Given the description of an element on the screen output the (x, y) to click on. 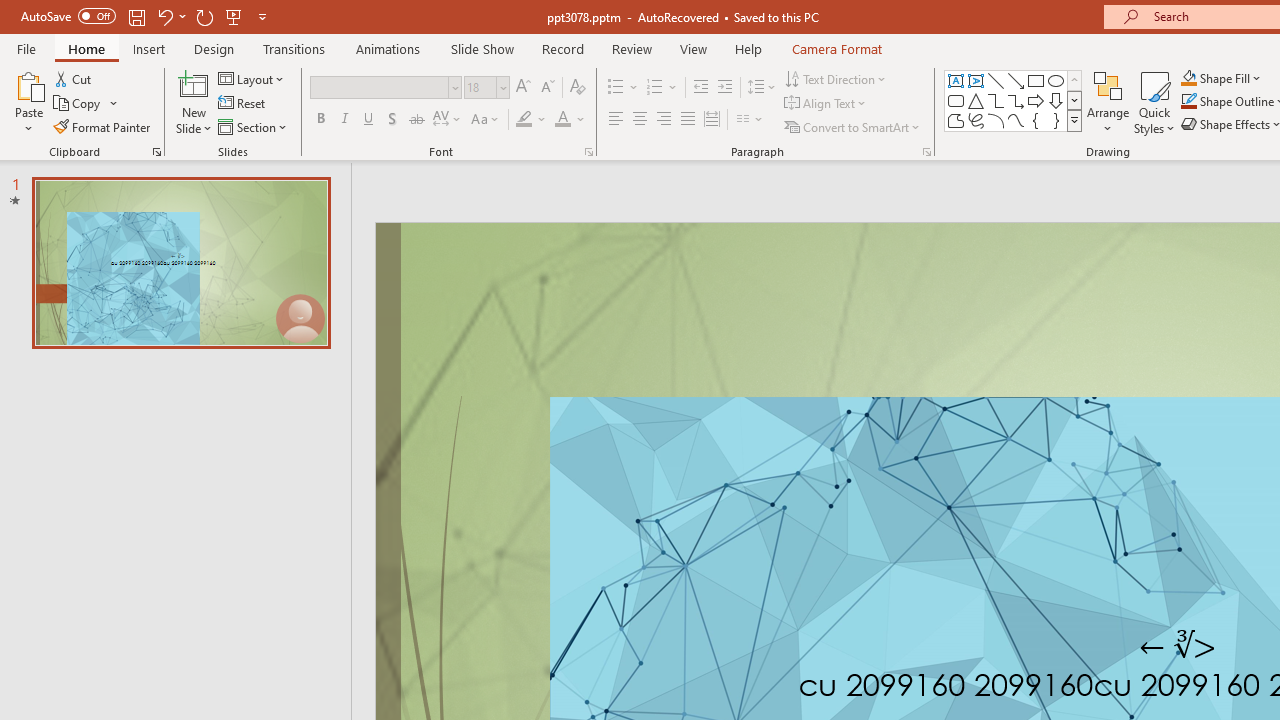
Freeform: Shape (955, 120)
Change Case (486, 119)
Shadow (392, 119)
Line Arrow (1016, 80)
Font Size (480, 87)
Row up (1074, 79)
Class: NetUIImage (1075, 120)
Oval (1055, 80)
Font... (588, 151)
Columns (750, 119)
Bullets (623, 87)
Text Highlight Color (531, 119)
Redo (204, 15)
Underline (369, 119)
Text Direction (836, 78)
